Given the description of an element on the screen output the (x, y) to click on. 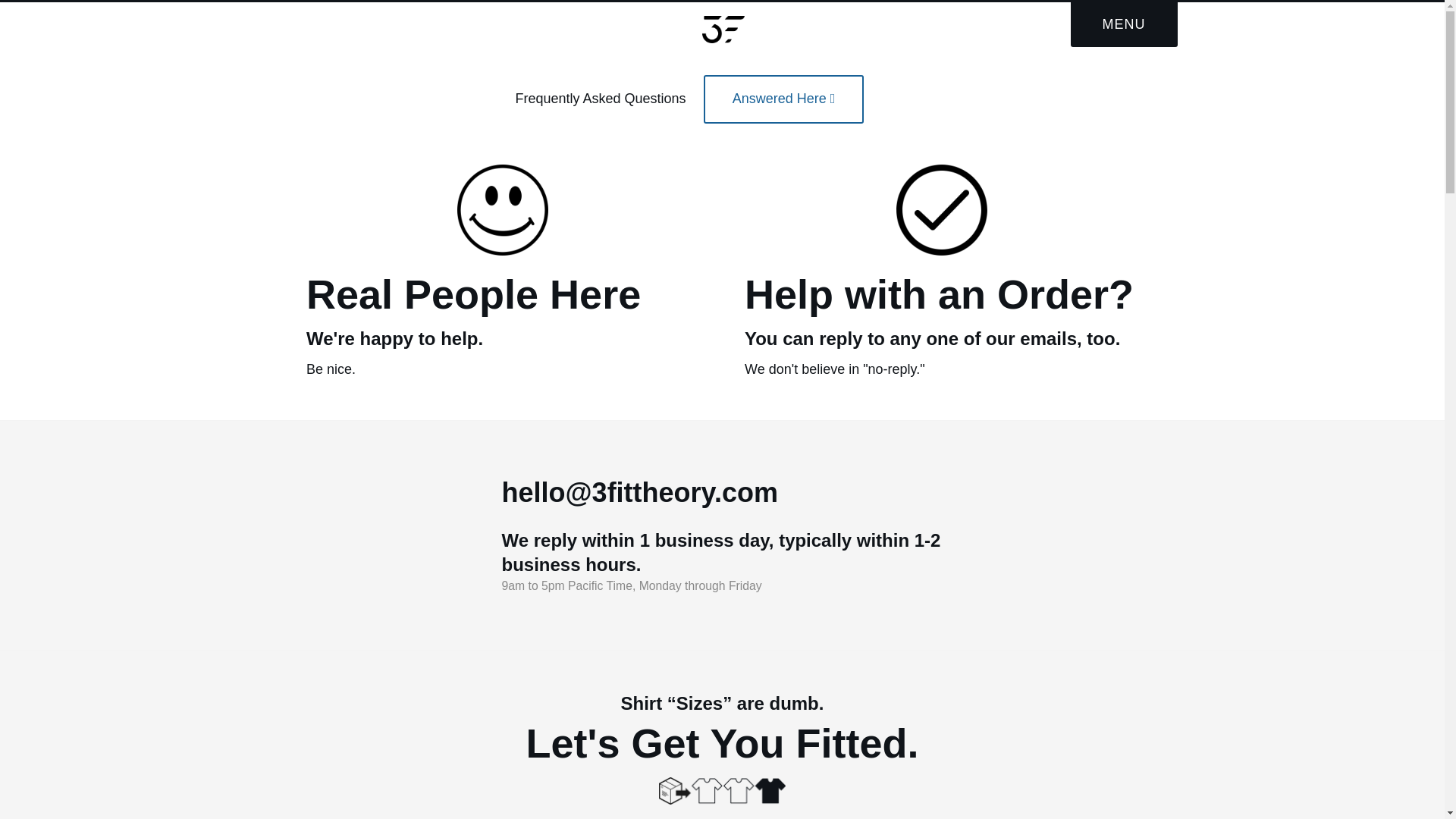
MENU Element type: text (1123, 24)
